Given the description of an element on the screen output the (x, y) to click on. 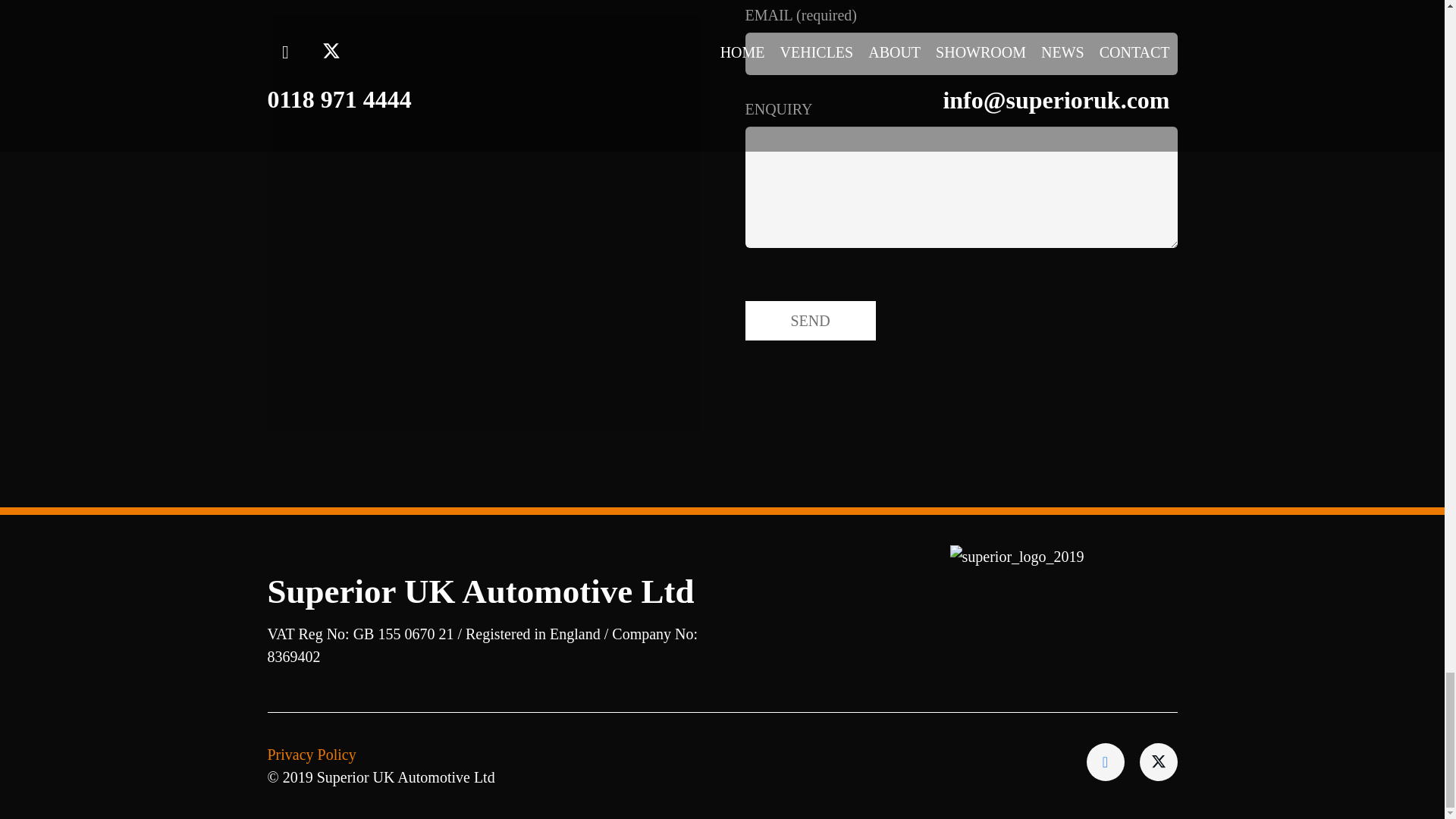
Send (809, 319)
Twitter (1157, 761)
Facebook (1105, 761)
